Given the description of an element on the screen output the (x, y) to click on. 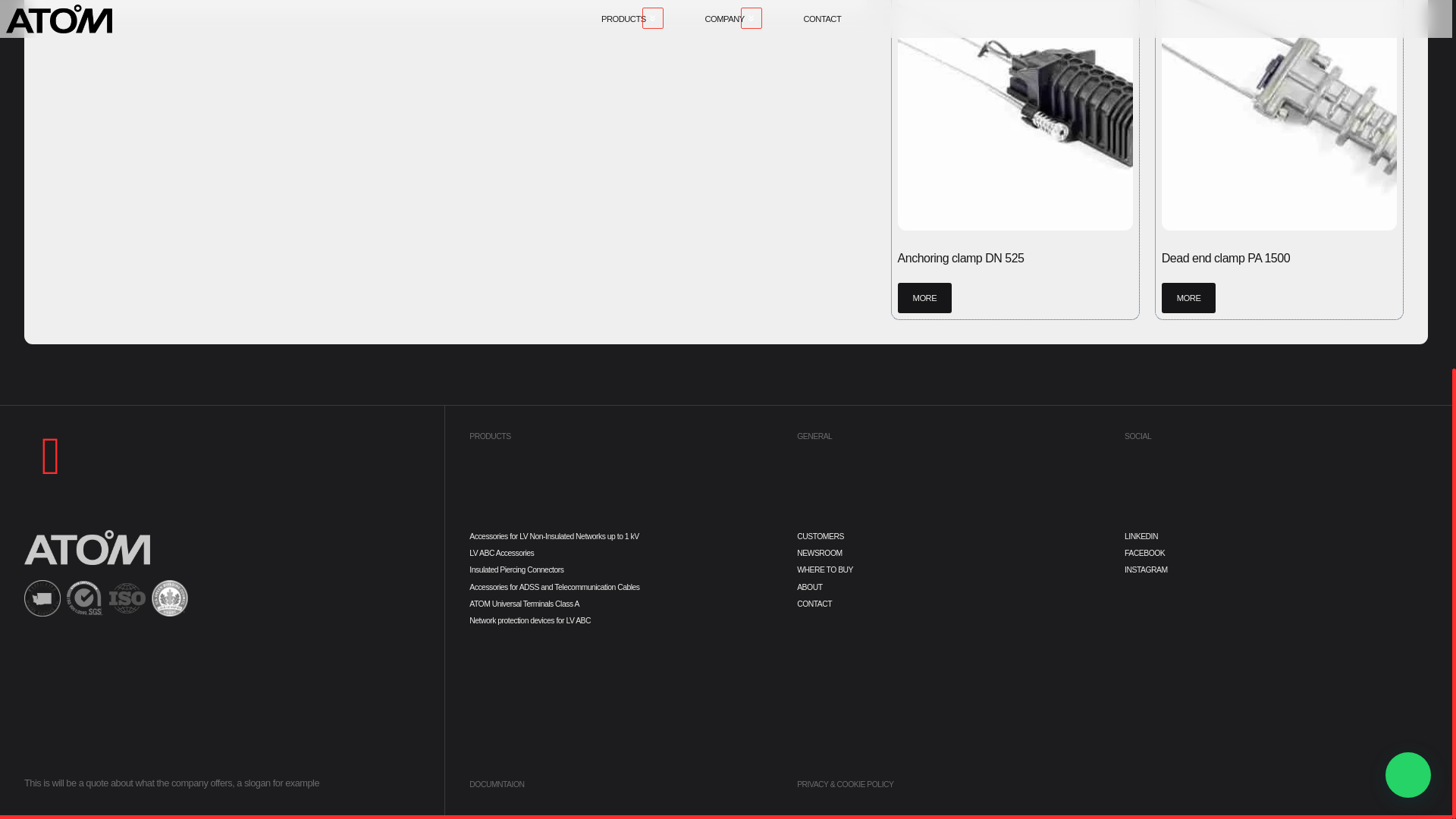
LV ABC Accessories (620, 553)
Accessories for ADSS and Telecommunication Cables (620, 586)
Network protection devices for LV ABC (620, 620)
DEAD END CLAMP PA 1500 (1278, 115)
Insulated Piercing Connectors (620, 569)
Dead end clamp PA (445, 6)
Anchoring clamp DN 525 (1015, 115)
MORE (925, 297)
ATOM Universal Terminals Class A (620, 603)
ABOUT (948, 586)
